Given the description of an element on the screen output the (x, y) to click on. 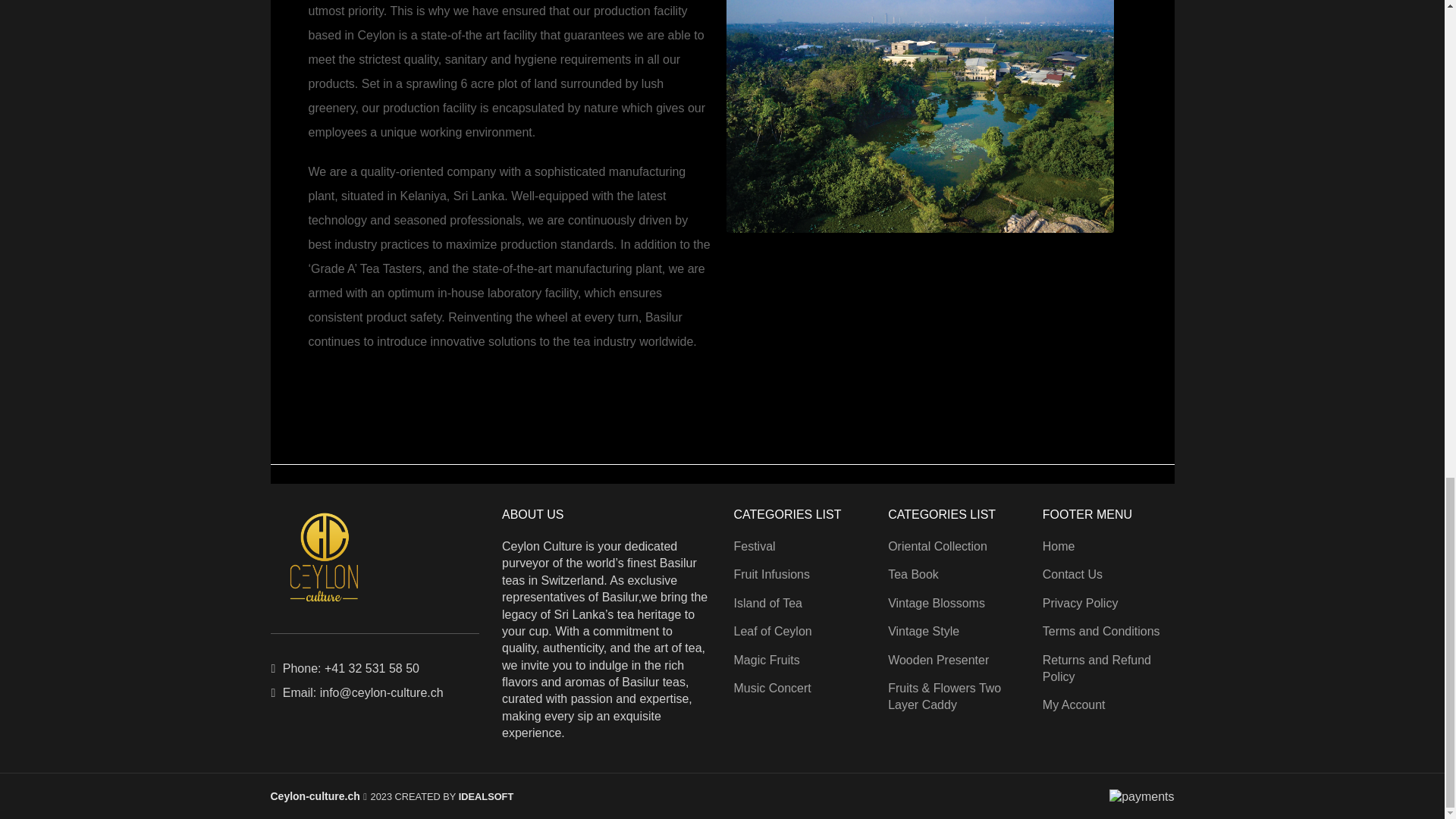
Festival (754, 545)
